Given the description of an element on the screen output the (x, y) to click on. 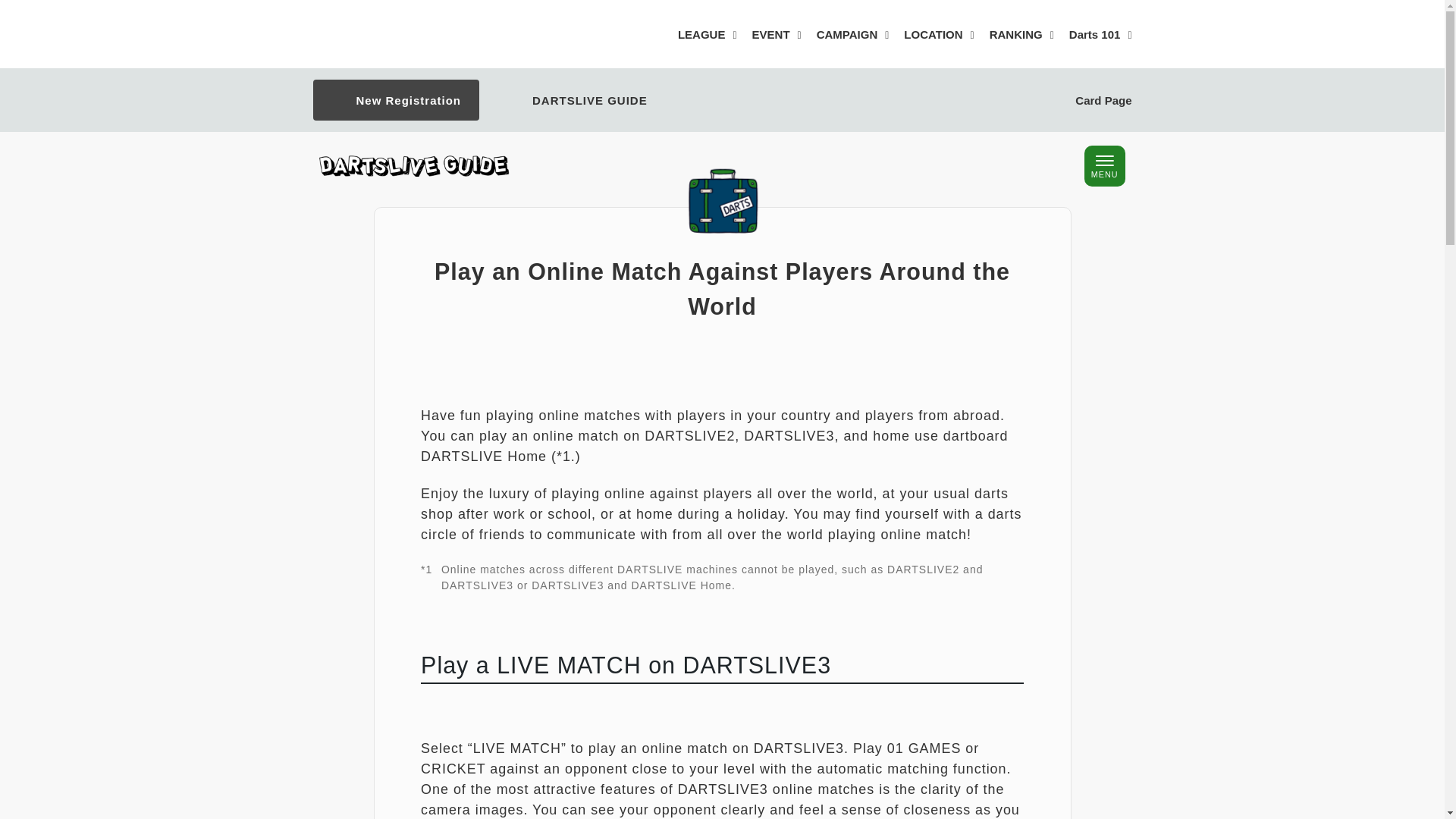
DARTSLIVE GUIDE (573, 100)
RANKING (1022, 35)
New Registration (393, 100)
LOCATION (939, 35)
Darts 101 (1100, 35)
Card Page (1083, 101)
DARTSLIVE (413, 34)
LEAGUE (707, 35)
CAMPAIGN (852, 35)
